Given the description of an element on the screen output the (x, y) to click on. 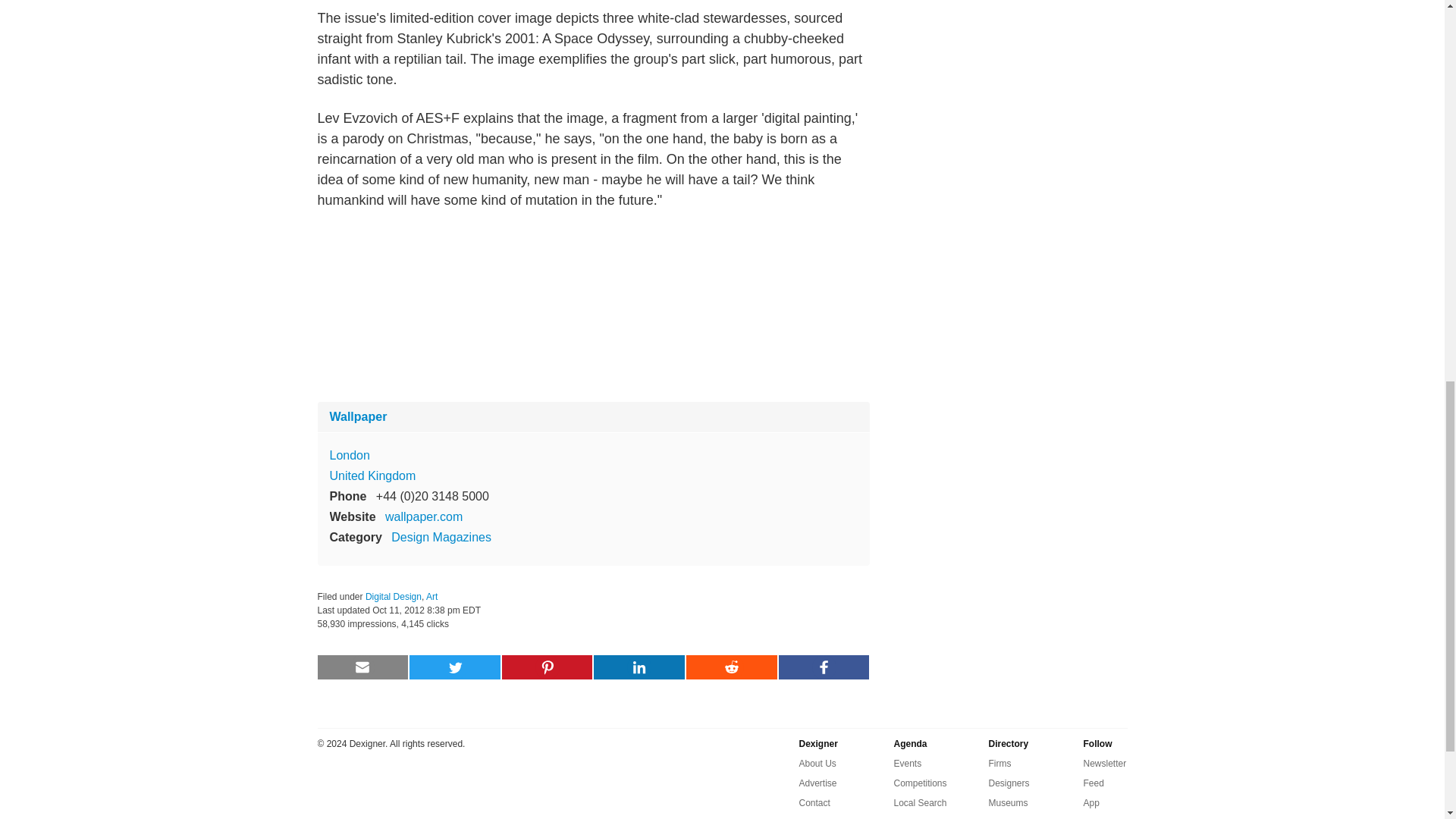
Museums (1007, 802)
Books (1000, 816)
Digital Design (393, 596)
Submit News (826, 816)
Competitions (919, 782)
Advertise (818, 782)
Contact (814, 802)
Feed (1093, 782)
Local Search (919, 802)
Twitter (1096, 816)
London (349, 454)
Art (432, 596)
Newsletter (1104, 763)
United Kingdom (371, 475)
View on Map (349, 454)
